Given the description of an element on the screen output the (x, y) to click on. 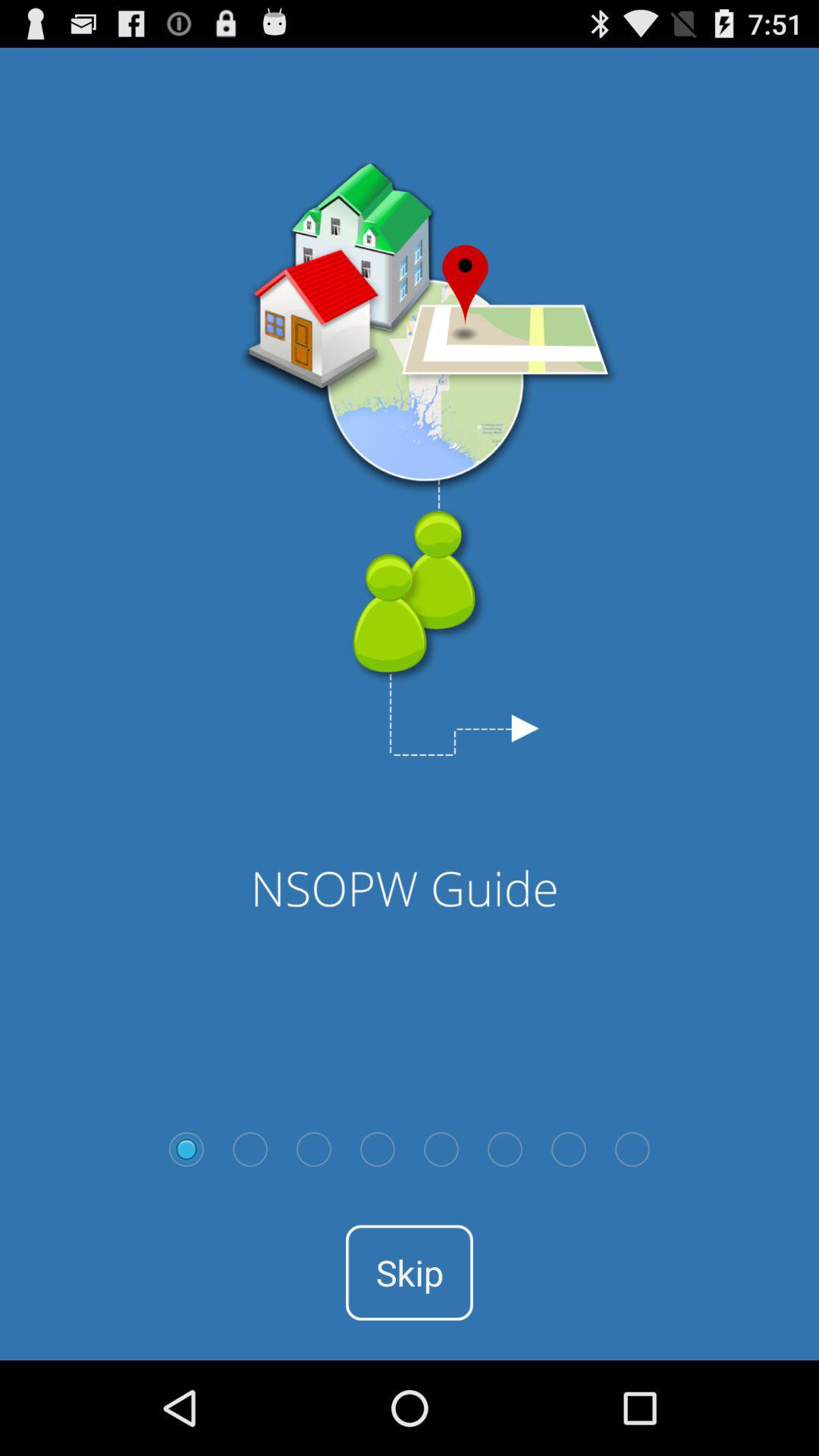
takes me to the next page (250, 1149)
